Given the description of an element on the screen output the (x, y) to click on. 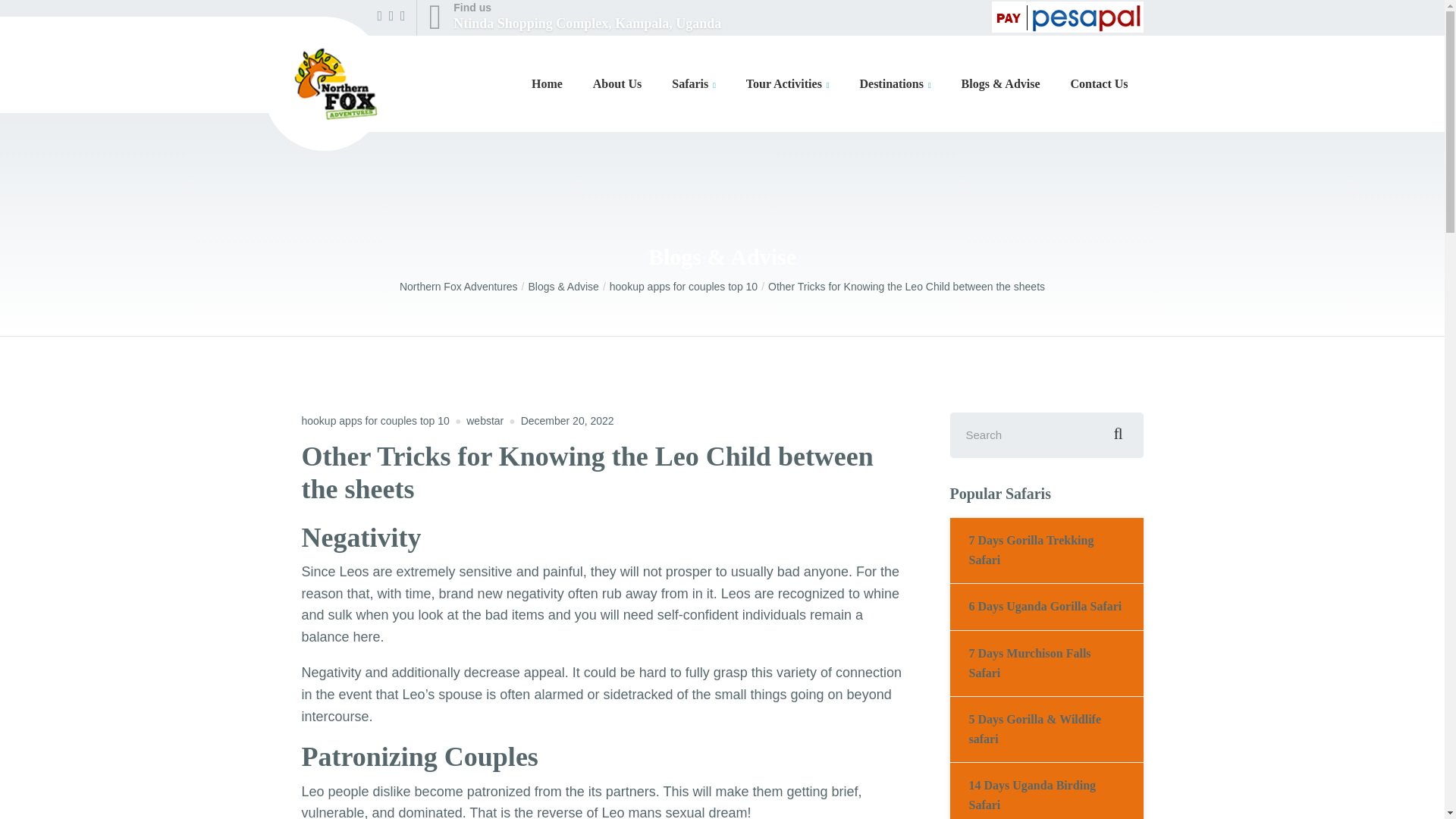
Go to Northern Fox Adventures. (463, 286)
About Us (574, 17)
Go to the hookup apps for couples top 10 Category archives. (617, 83)
